Given the description of an element on the screen output the (x, y) to click on. 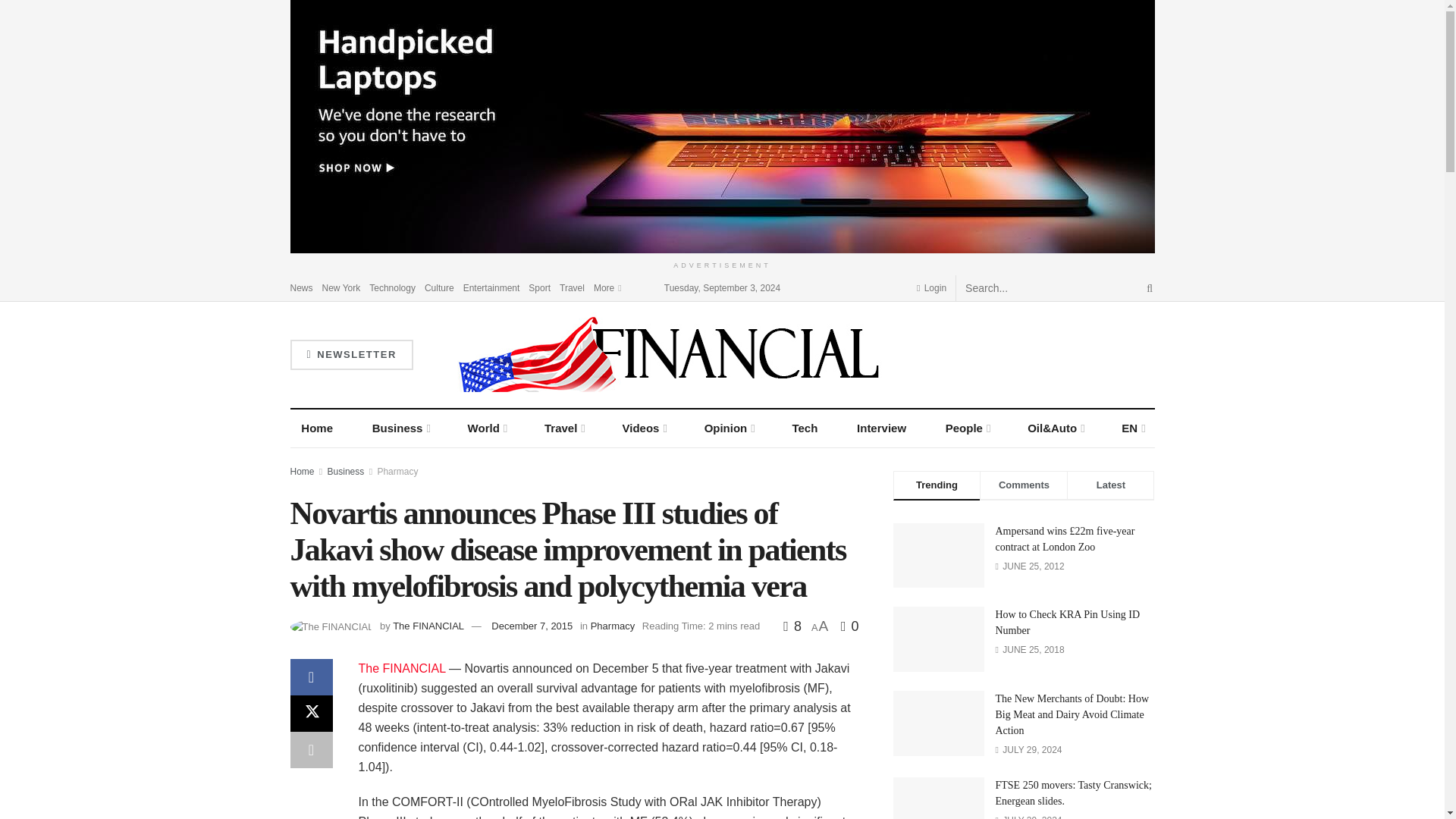
Entertainment (491, 287)
More (607, 287)
NEWSLETTER (350, 354)
Culture (439, 287)
Home (316, 428)
Business (400, 428)
Login (931, 287)
The FINANCIAL (401, 667)
Technology (391, 287)
New York (341, 287)
